Given the description of an element on the screen output the (x, y) to click on. 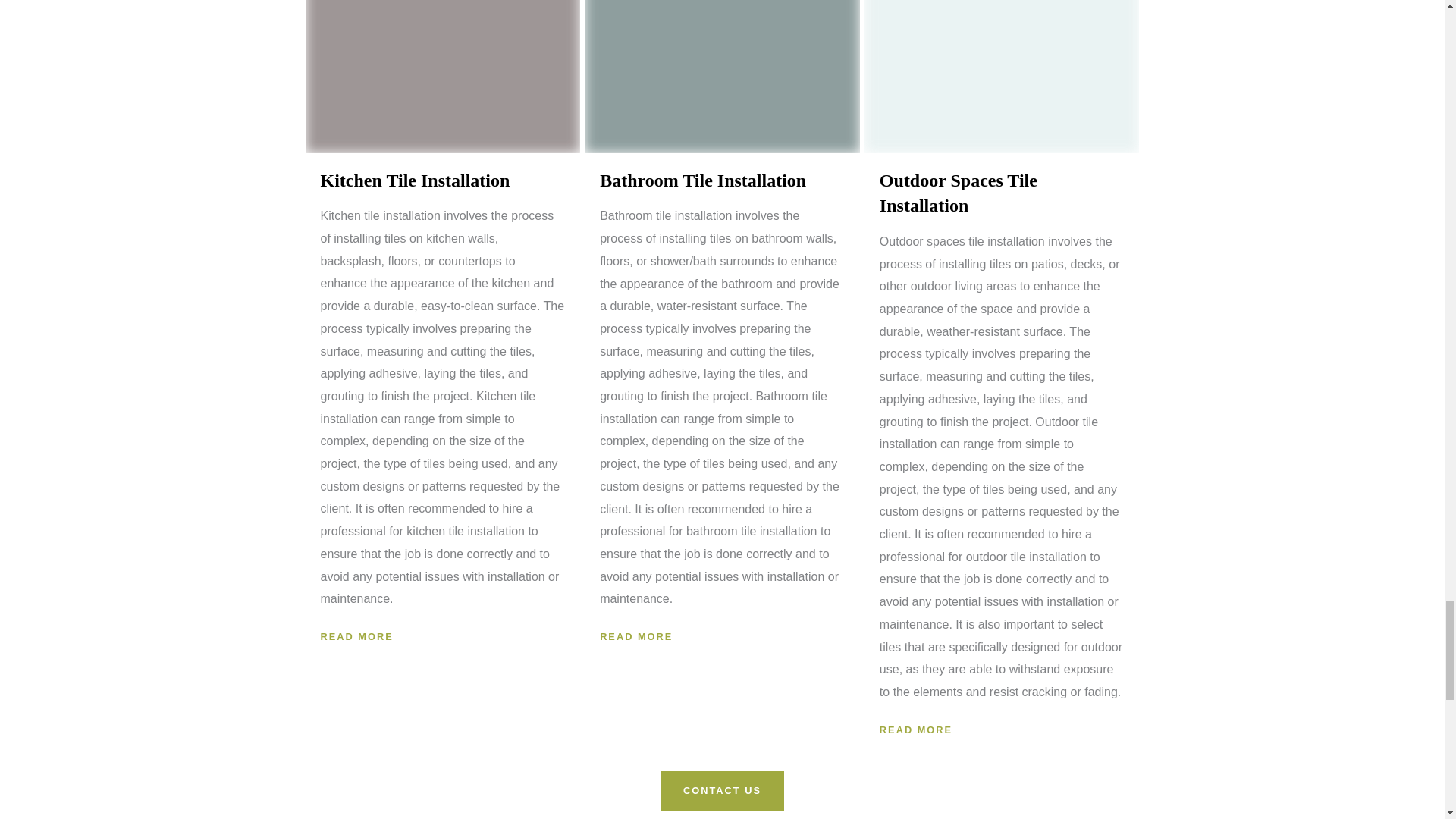
Kitchen Tile Installation (414, 180)
Outdoor Spaces Tile Installation (957, 193)
kitchen backsplace tile installation in denver home (441, 76)
Bathroom Tile Installation (702, 180)
floor tile installation (1002, 76)
